Given the description of an element on the screen output the (x, y) to click on. 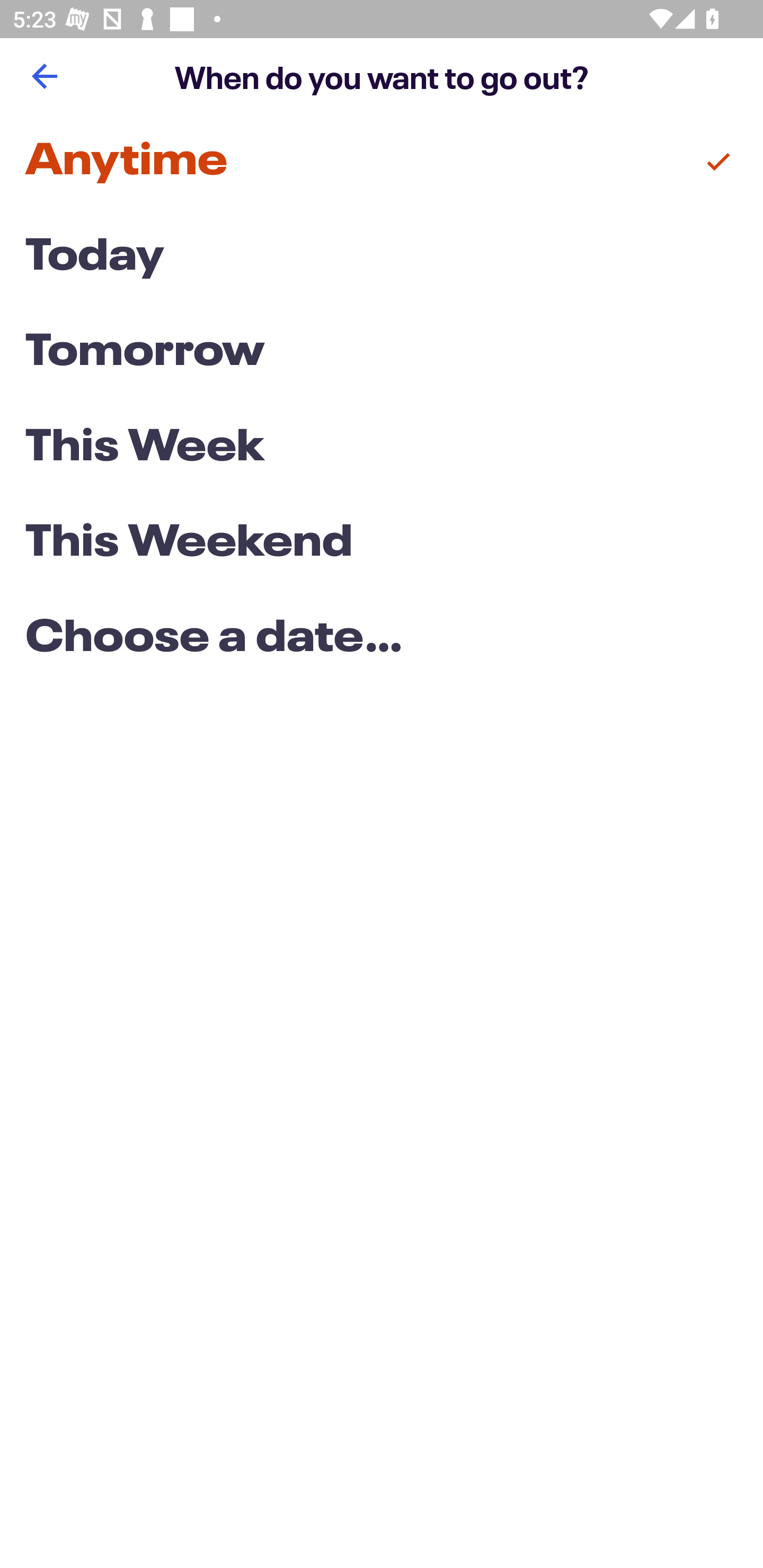
Back button (44, 75)
Anytime (381, 161)
Today (381, 257)
Tomorrow (381, 352)
This Week (381, 447)
This Weekend (381, 542)
Choose a date… (381, 638)
